Given the description of an element on the screen output the (x, y) to click on. 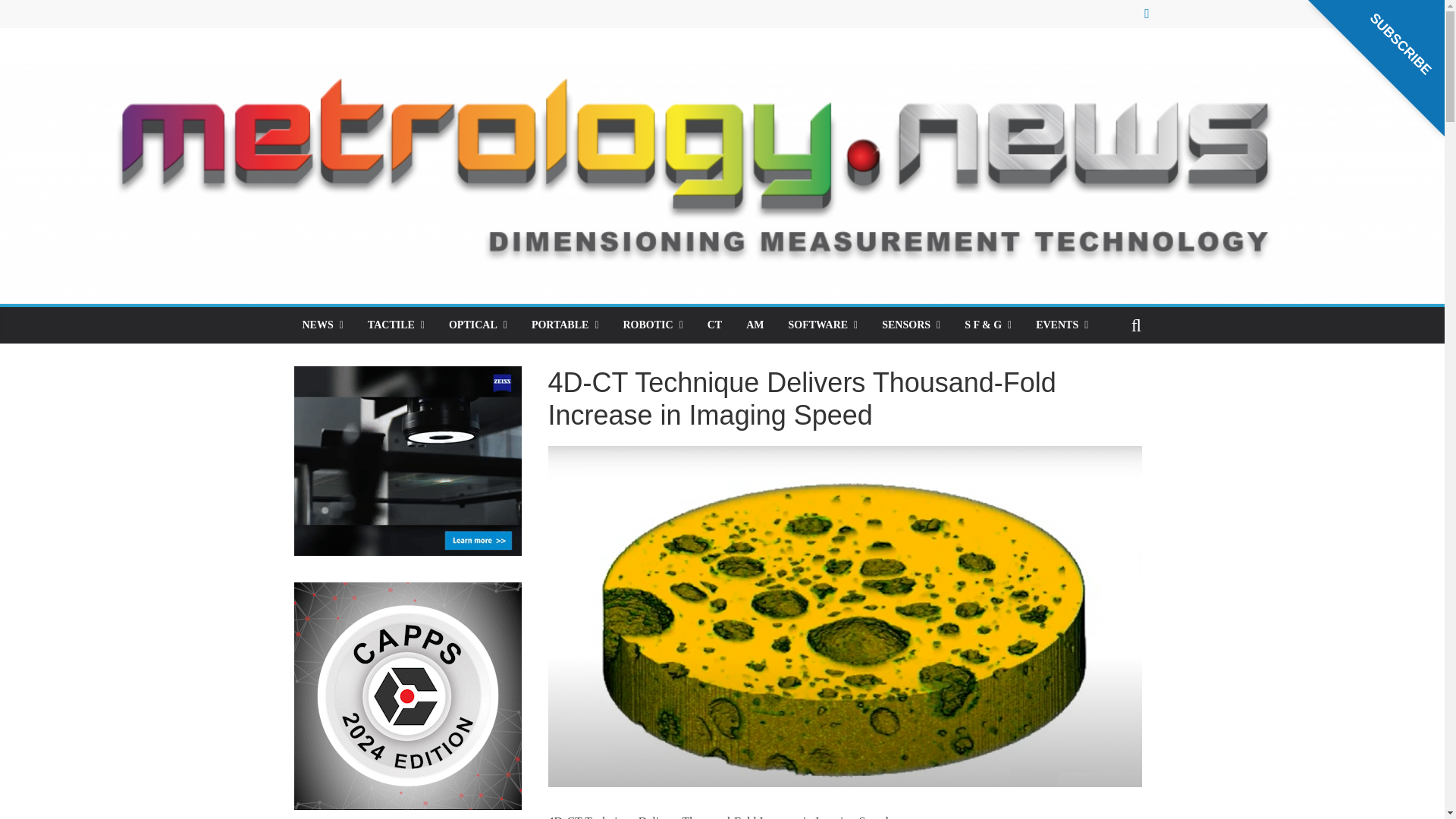
CT (714, 325)
TACTILE (395, 325)
AM (754, 325)
NEWS (322, 325)
ROBOTIC (653, 325)
PORTABLE (565, 325)
OPTICAL (477, 325)
